Given the description of an element on the screen output the (x, y) to click on. 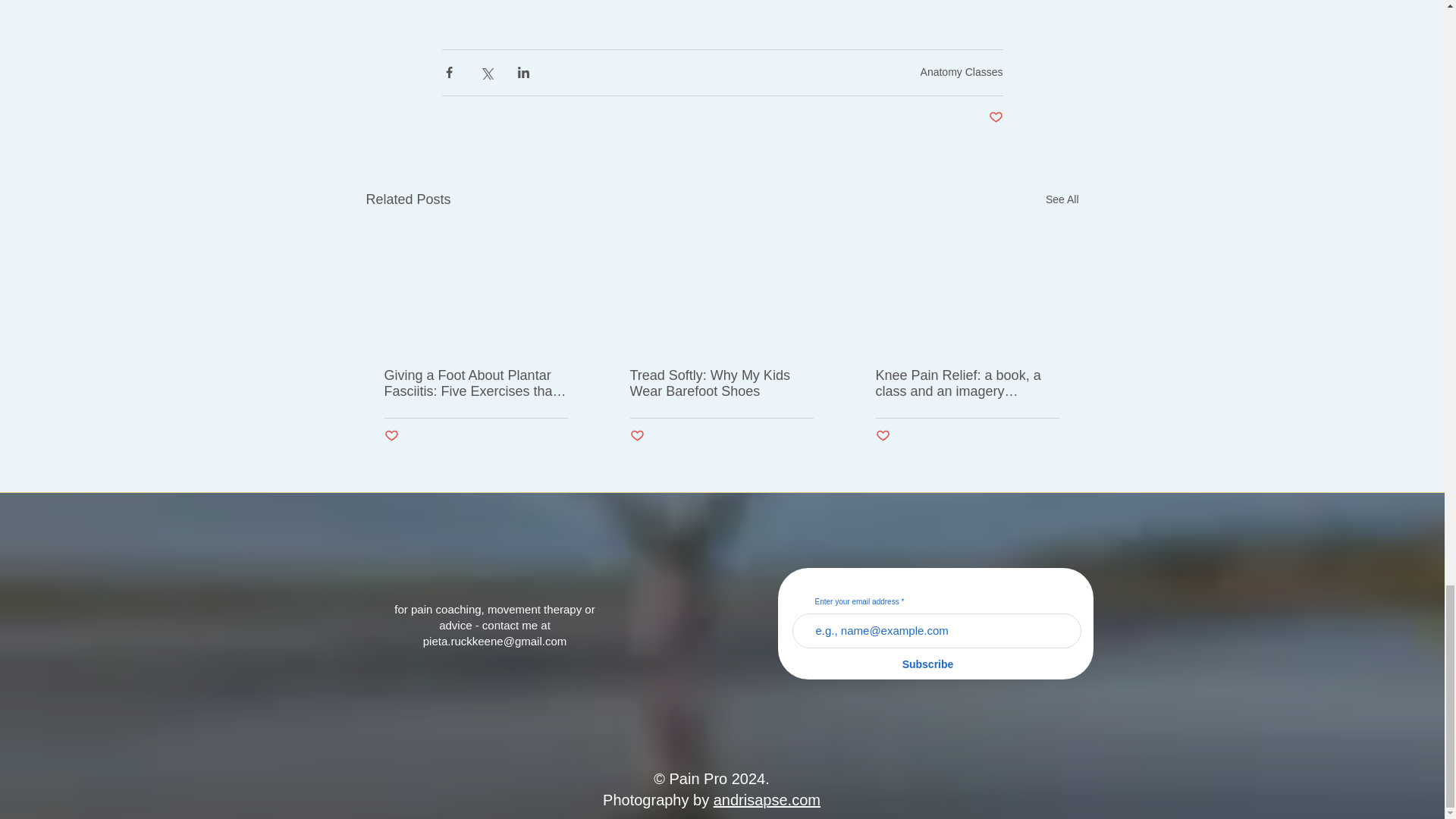
Post not marked as liked (882, 436)
Knee Pain Relief: a book, a class and an imagery exercise. (966, 383)
Tread Softly: Why My Kids Wear Barefoot Shoes (720, 383)
See All (1061, 199)
Anatomy Classes (961, 71)
Subscribe (927, 664)
Post not marked as liked (635, 436)
Post not marked as liked (995, 117)
Post not marked as liked (390, 436)
